Given the description of an element on the screen output the (x, y) to click on. 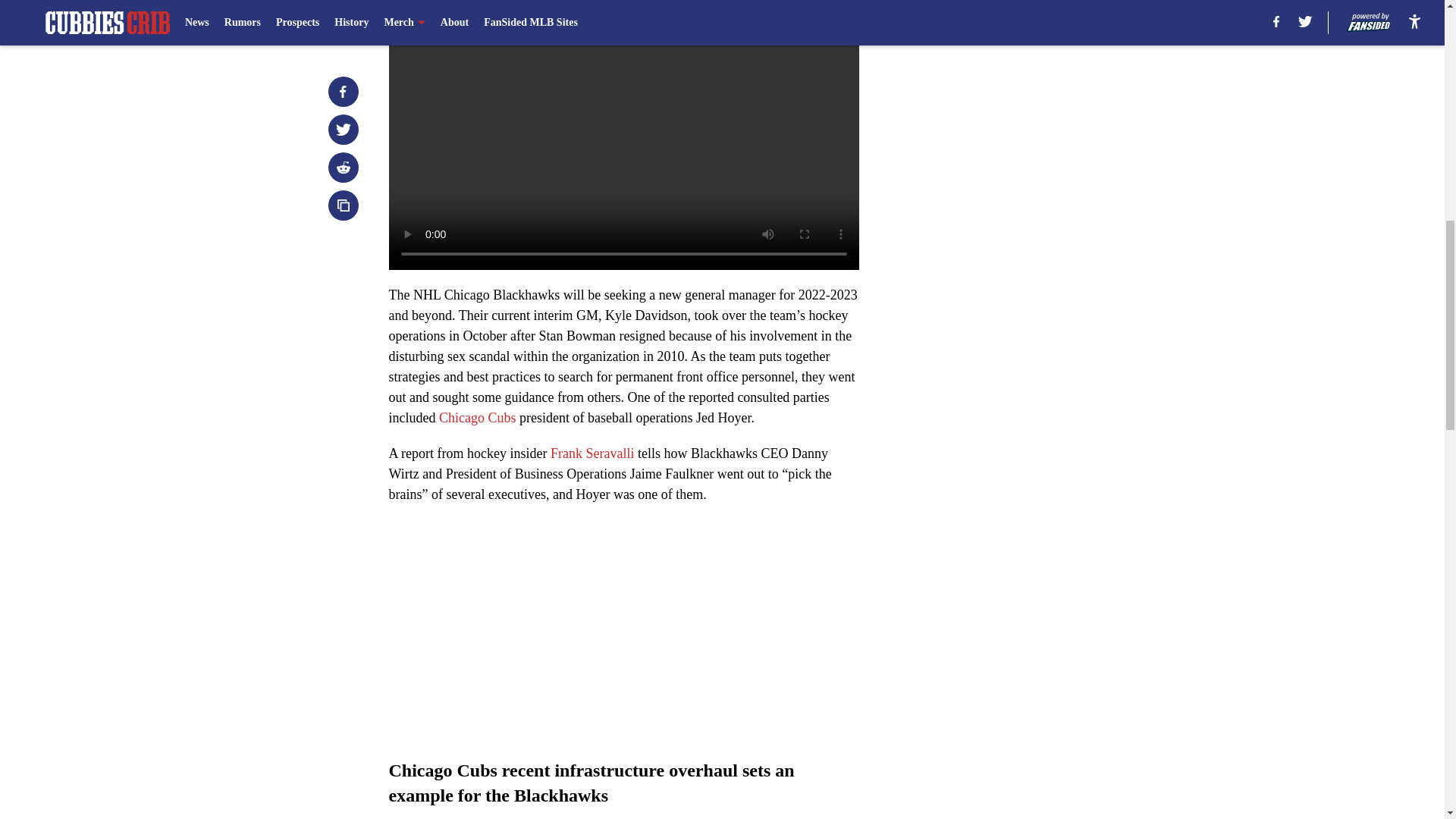
3rd party ad content (1047, 100)
Chicago Cubs (477, 417)
Frank Seravalli (591, 453)
3rd party ad content (1047, 320)
